Given the description of an element on the screen output the (x, y) to click on. 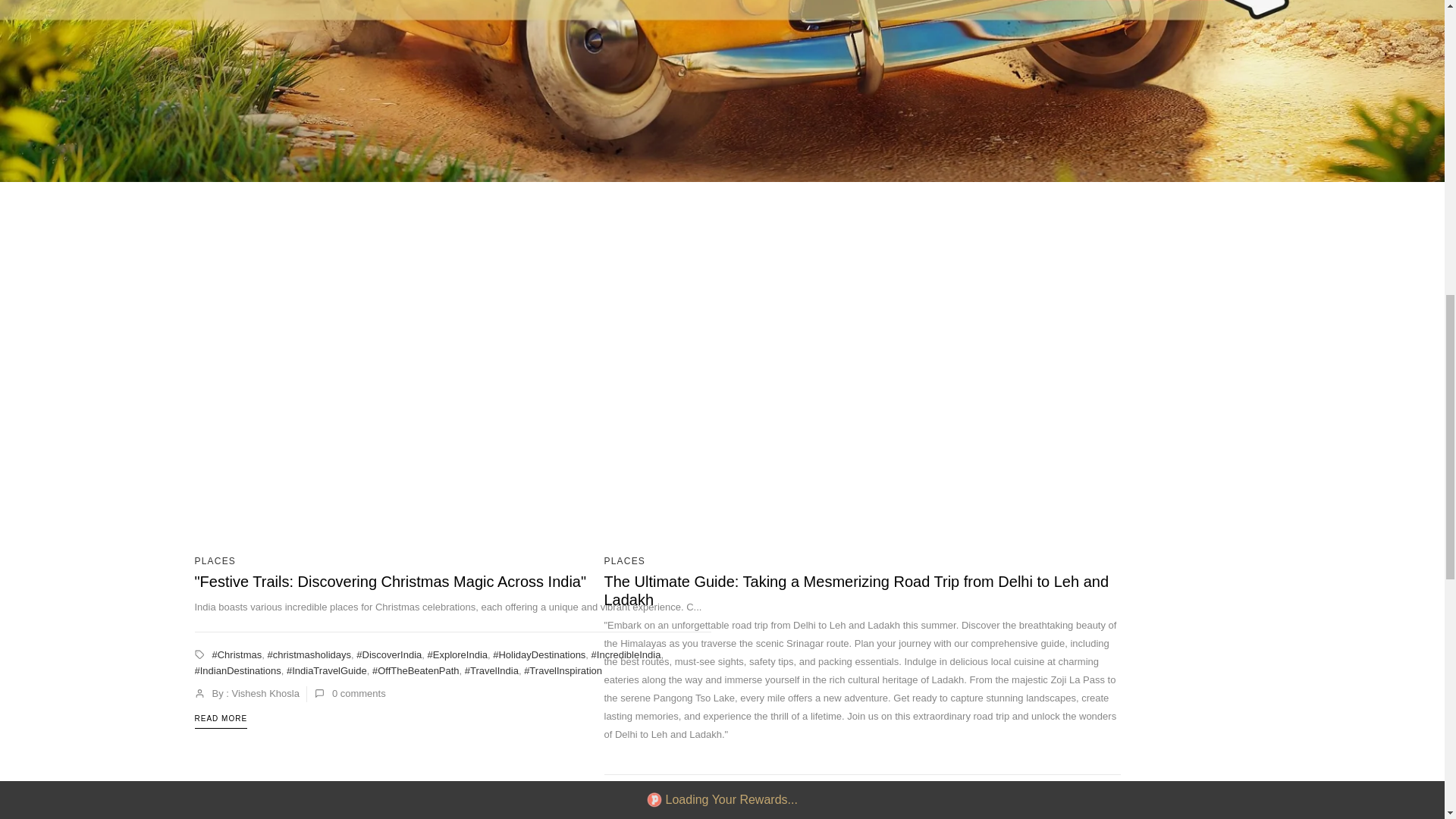
0 comments (349, 693)
PLACES (214, 561)
PLACES (624, 561)
"Festive Trails: Discovering Christmas Magic Across India" (389, 581)
READ MORE (220, 719)
